Given the description of an element on the screen output the (x, y) to click on. 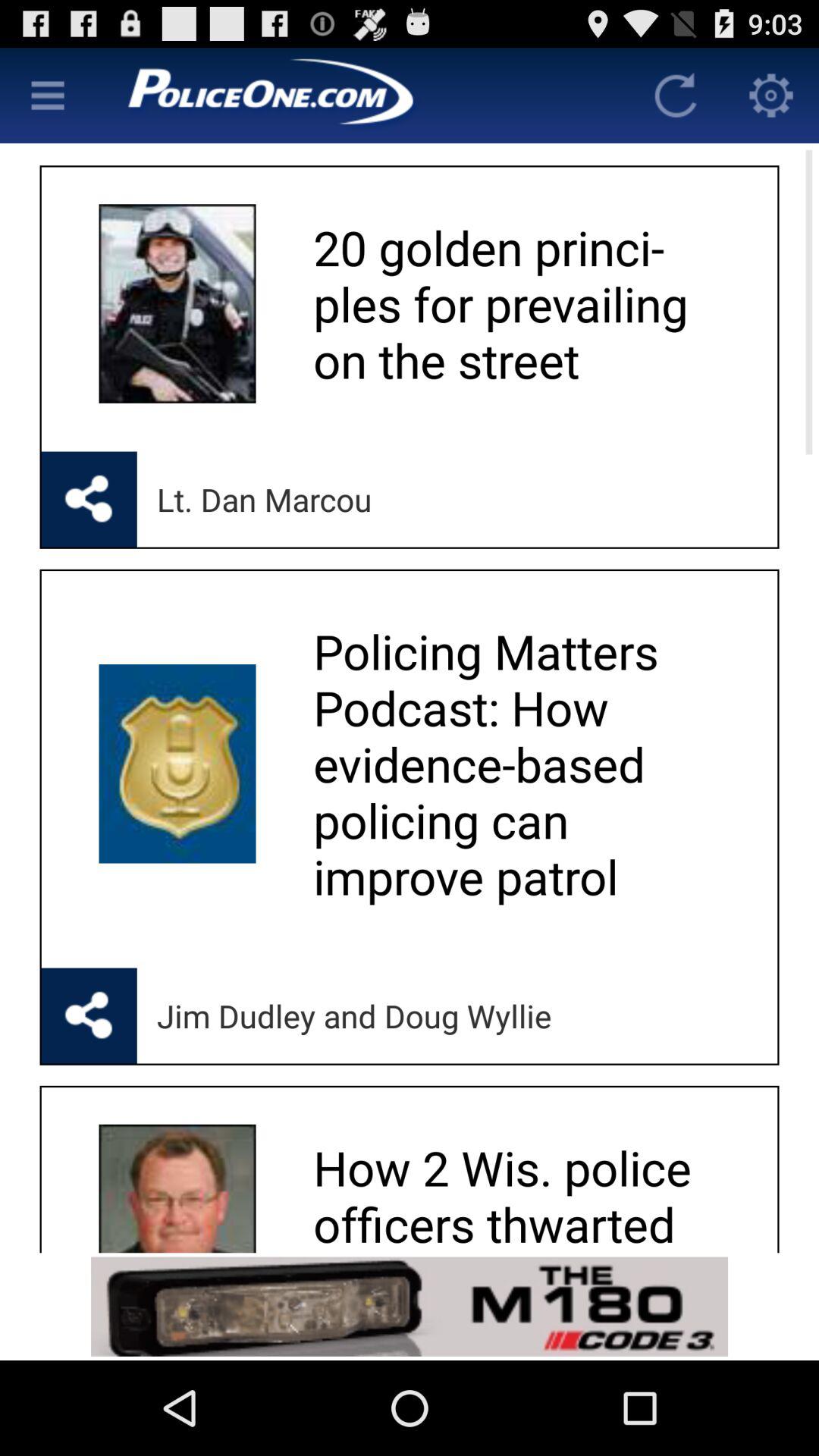
open settings (771, 95)
